Given the description of an element on the screen output the (x, y) to click on. 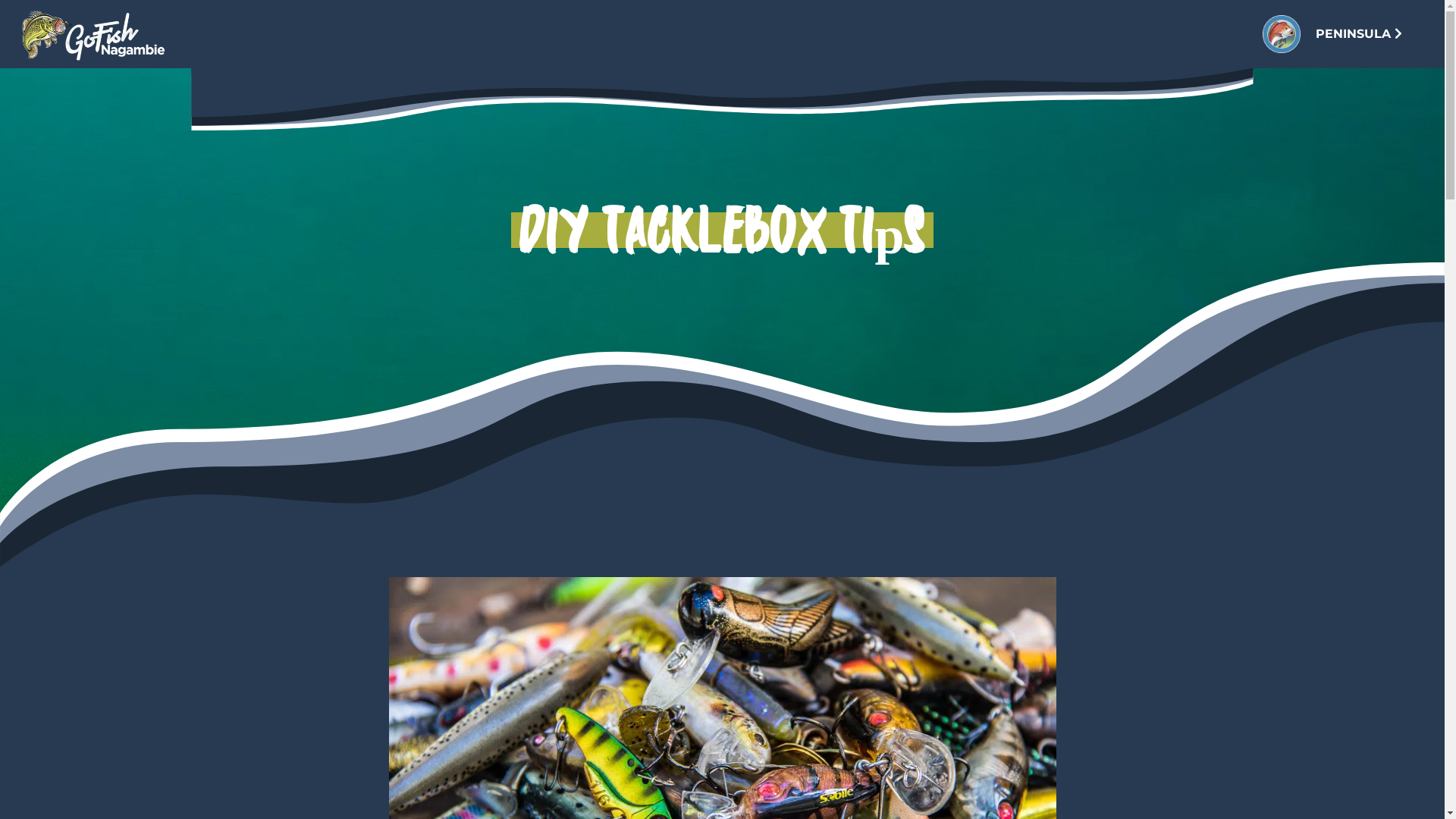
PENINSULA Element type: text (1358, 33)
GoFish Tournament Element type: text (98, 33)
